Given the description of an element on the screen output the (x, y) to click on. 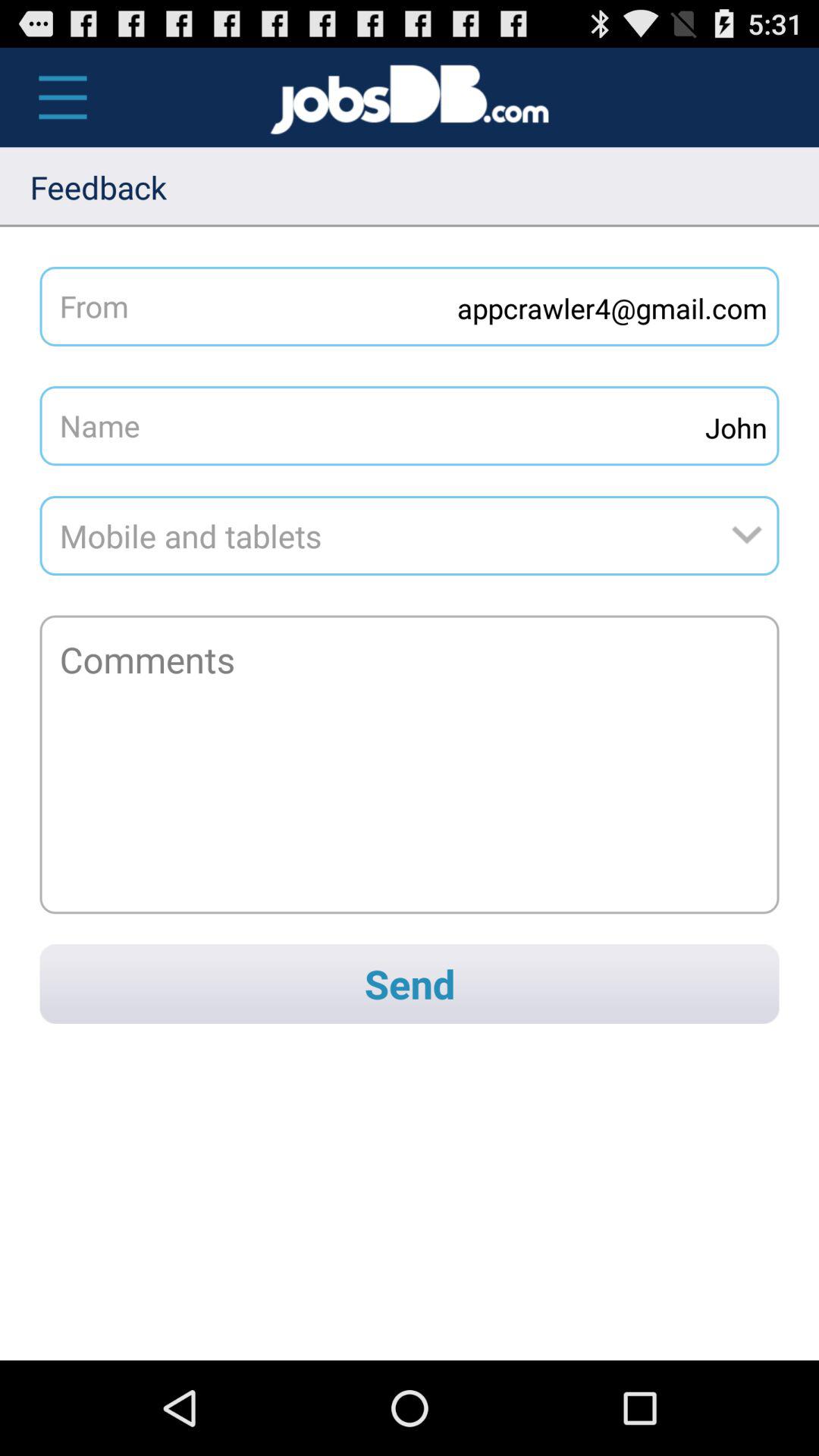
select the text com (529, 97)
select the icon present in the 3rd box (753, 535)
